Given the description of an element on the screen output the (x, y) to click on. 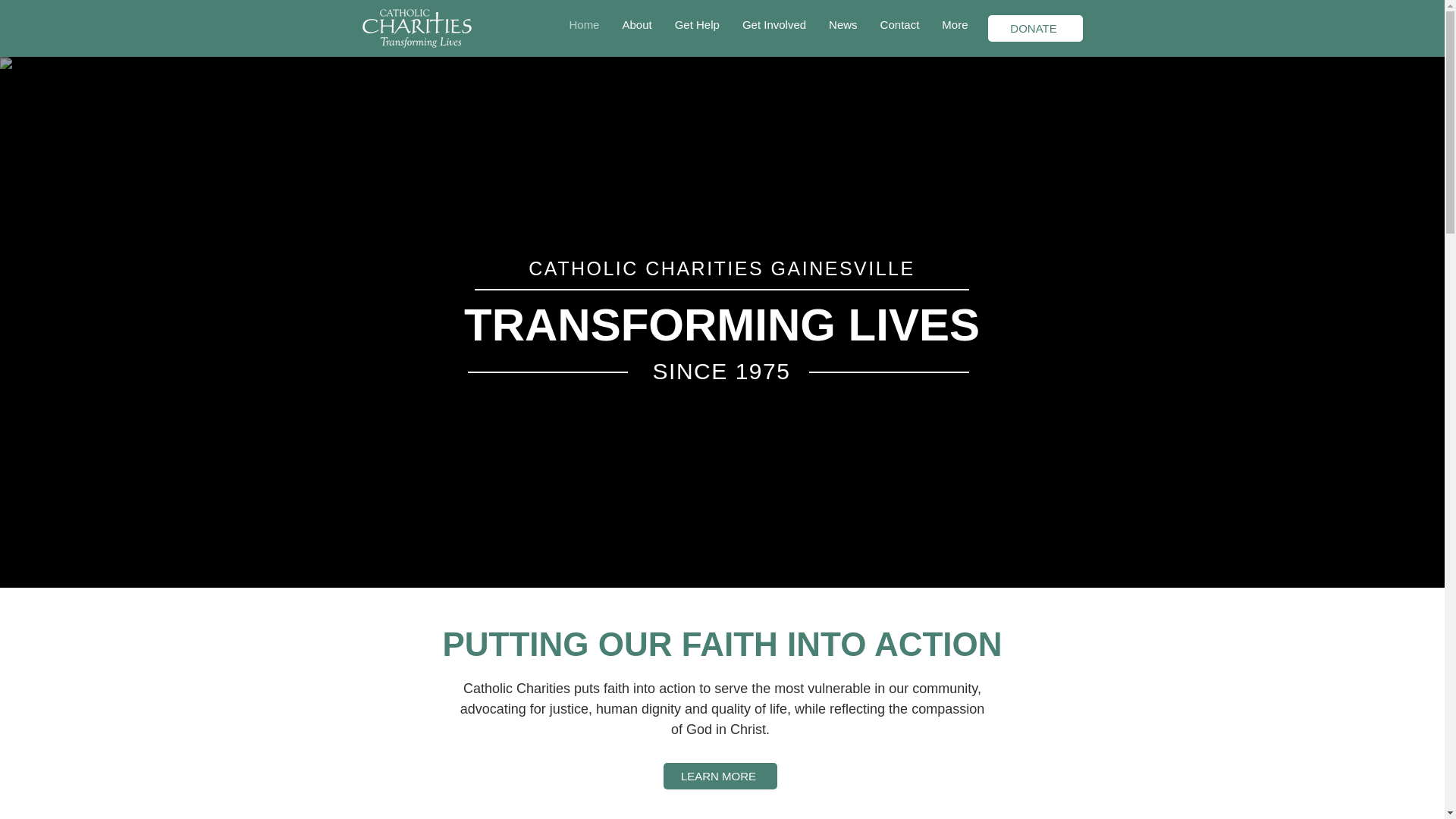
Home (583, 26)
Get Involved (773, 26)
LEARN MORE (719, 775)
News (842, 26)
Get Help (696, 26)
About (636, 26)
DONATE (1034, 28)
Contact (900, 26)
